Given the description of an element on the screen output the (x, y) to click on. 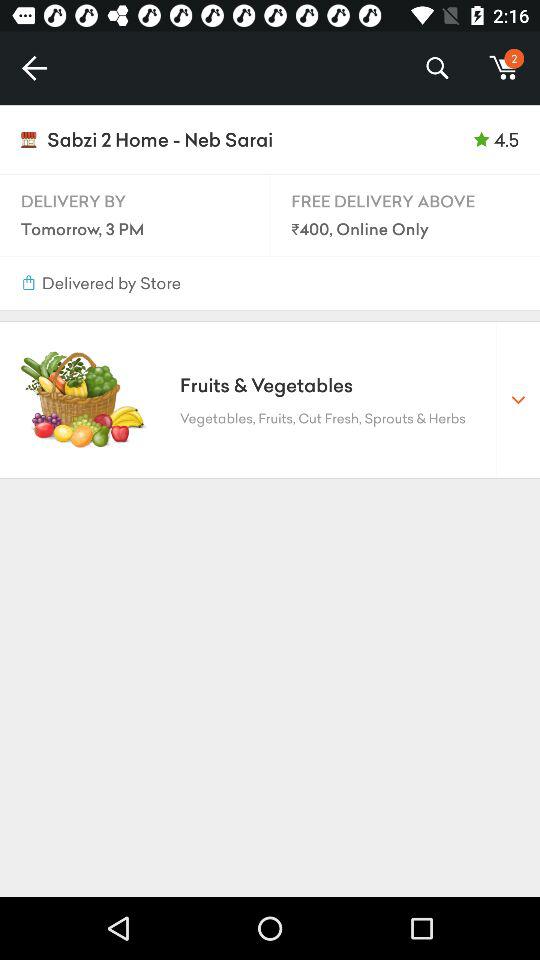
open the icon next to % (33, 67)
